Given the description of an element on the screen output the (x, y) to click on. 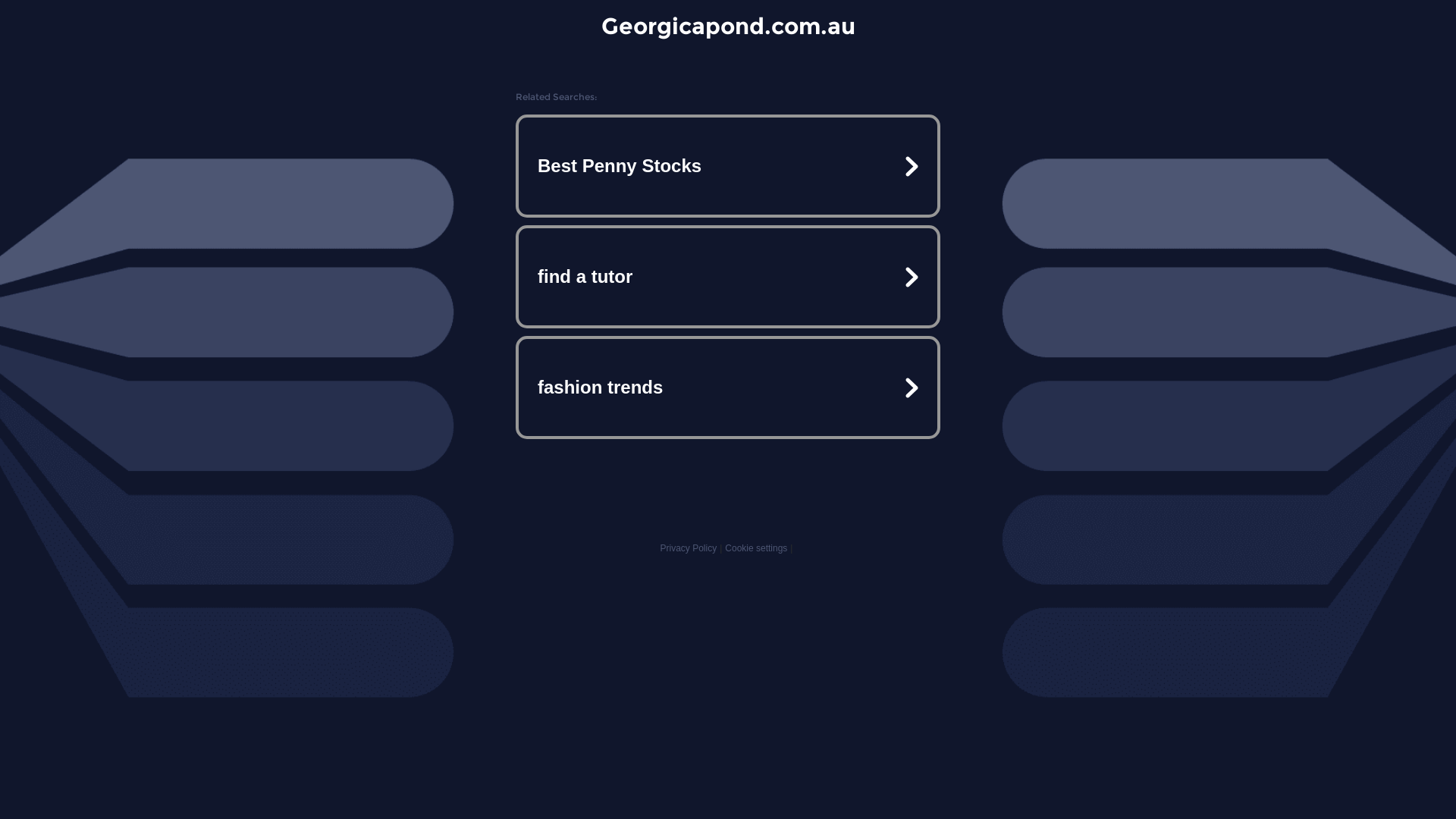
Georgicapond.com.au Element type: text (727, 26)
Cookie settings Element type: text (755, 547)
Privacy Policy Element type: text (687, 547)
Best Penny Stocks Element type: text (727, 165)
fashion trends Element type: text (727, 387)
find a tutor Element type: text (727, 276)
